Given the description of an element on the screen output the (x, y) to click on. 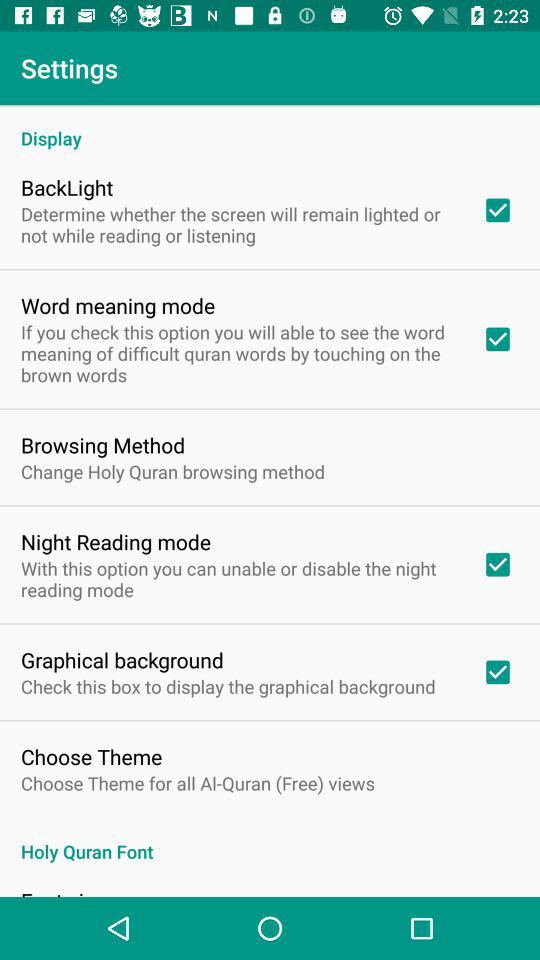
turn on backlight icon (67, 187)
